Given the description of an element on the screen output the (x, y) to click on. 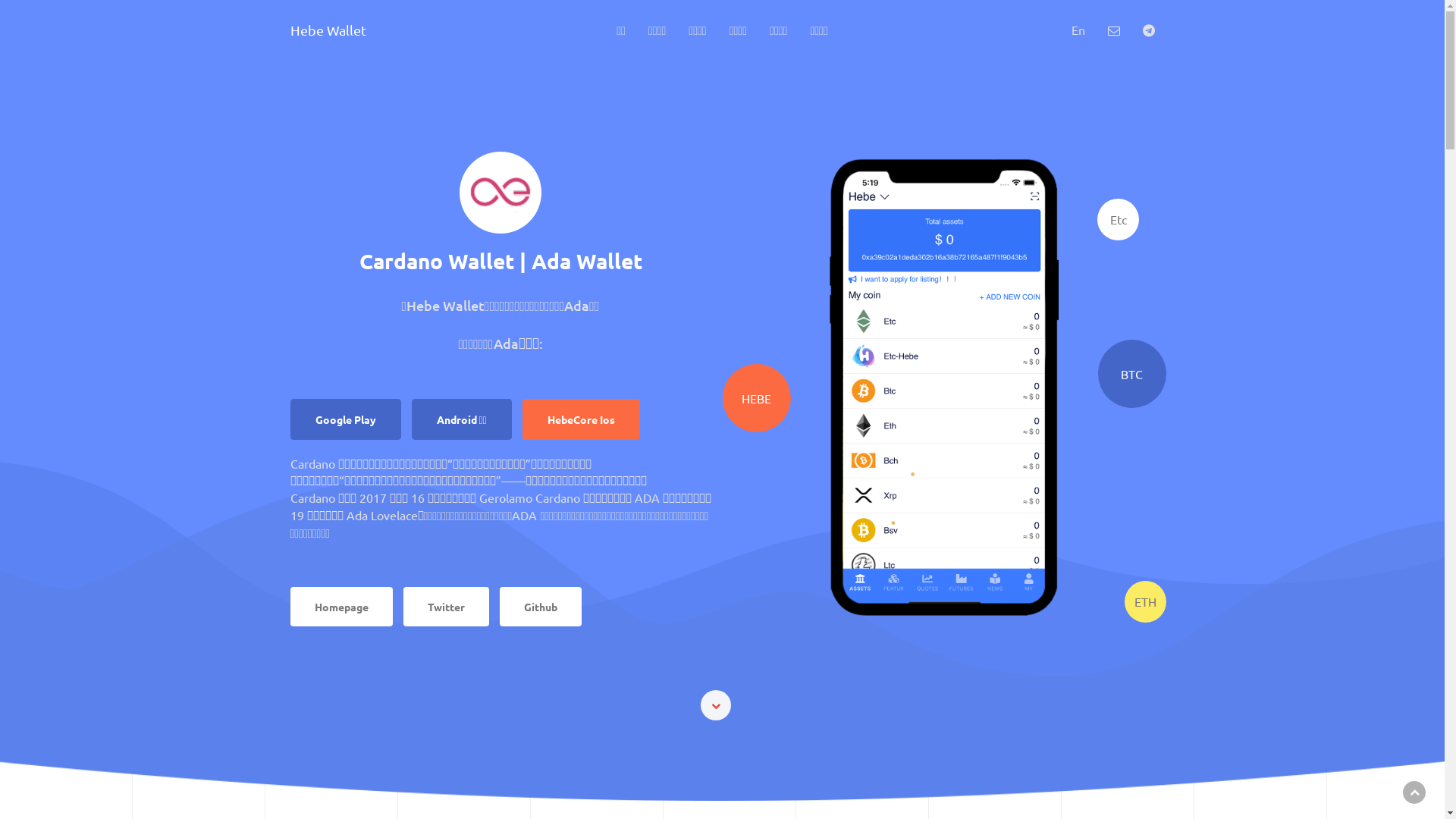
Github Element type: text (539, 606)
Hebe Wallet Element type: text (328, 22)
HebeCore Ios Element type: text (581, 418)
Homepage Element type: text (340, 606)
Twitter Element type: text (446, 606)
En Element type: text (1078, 29)
Google Play Element type: text (344, 418)
